Given the description of an element on the screen output the (x, y) to click on. 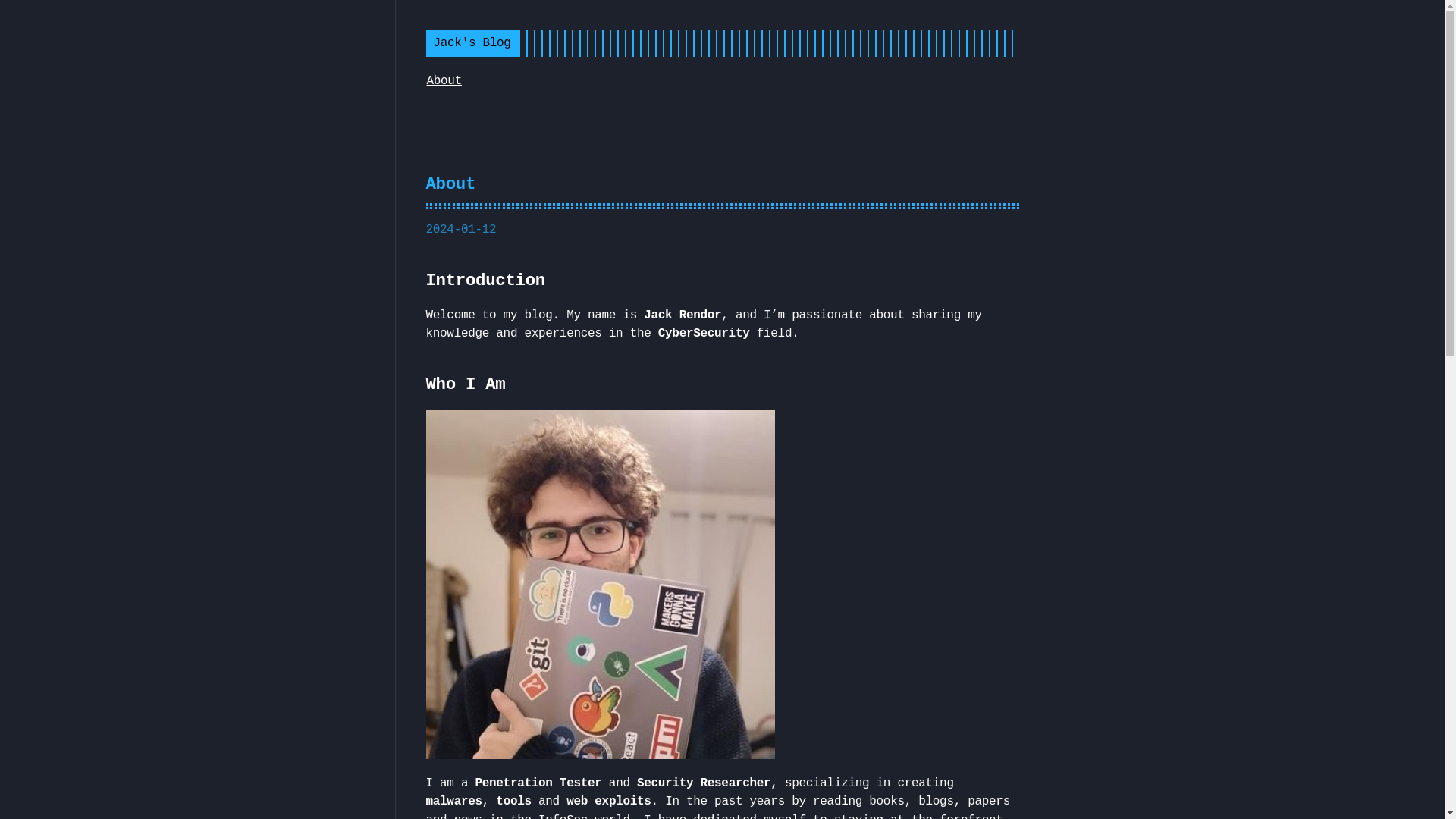
Jack's Blog (472, 43)
About (443, 80)
About (451, 184)
